Given the description of an element on the screen output the (x, y) to click on. 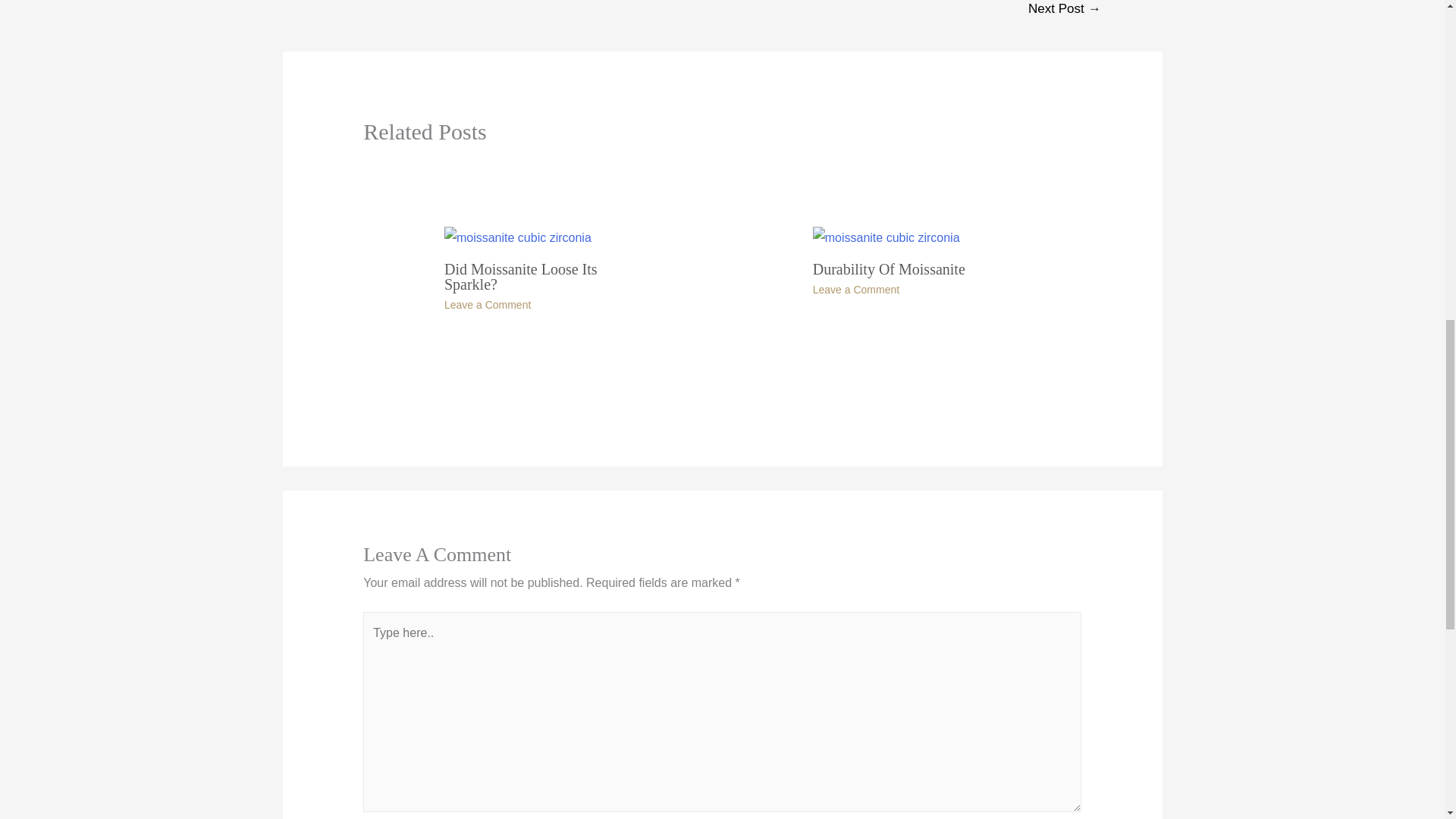
Did Moissanite Loose Its Sparkle? (520, 276)
Durability Of Moissanite (888, 269)
Leave a Comment (487, 304)
Leave a Comment (855, 289)
